Given the description of an element on the screen output the (x, y) to click on. 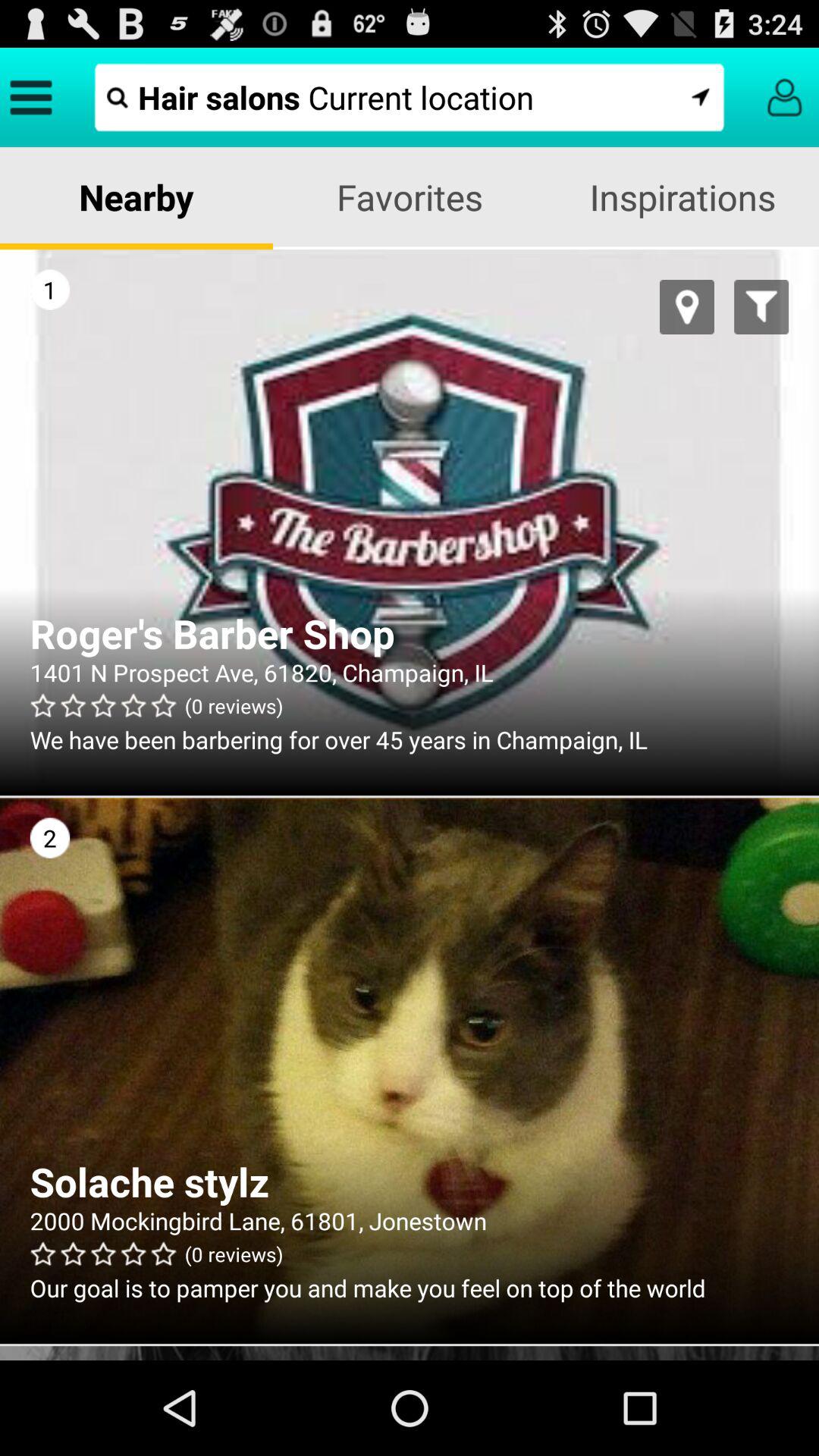
choose solache stylz (409, 1181)
